Given the description of an element on the screen output the (x, y) to click on. 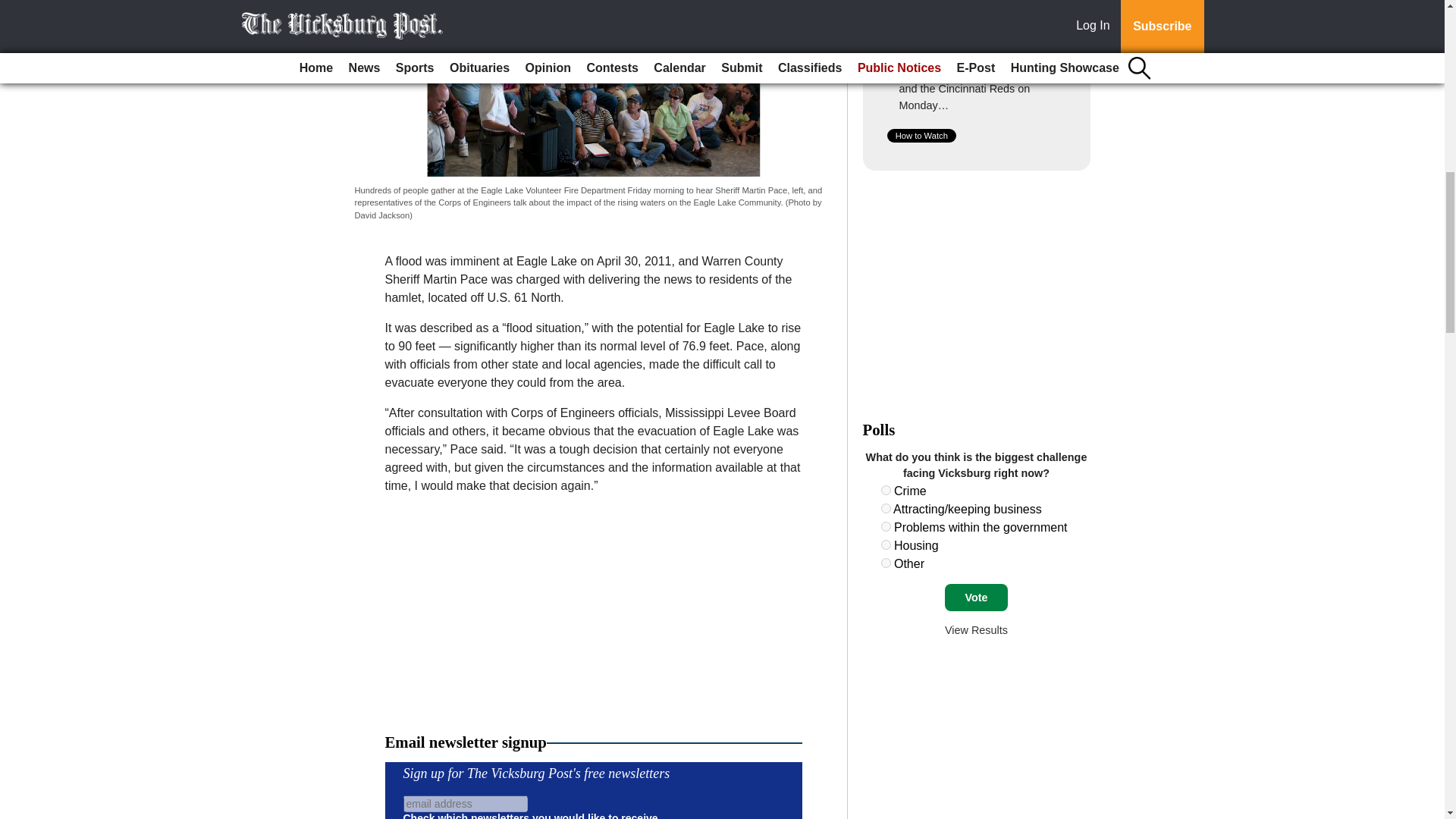
597 (885, 490)
View Results Of This Poll (975, 630)
599 (885, 526)
   Vote    (975, 596)
600 (885, 544)
601 (885, 562)
598 (885, 508)
